Given the description of an element on the screen output the (x, y) to click on. 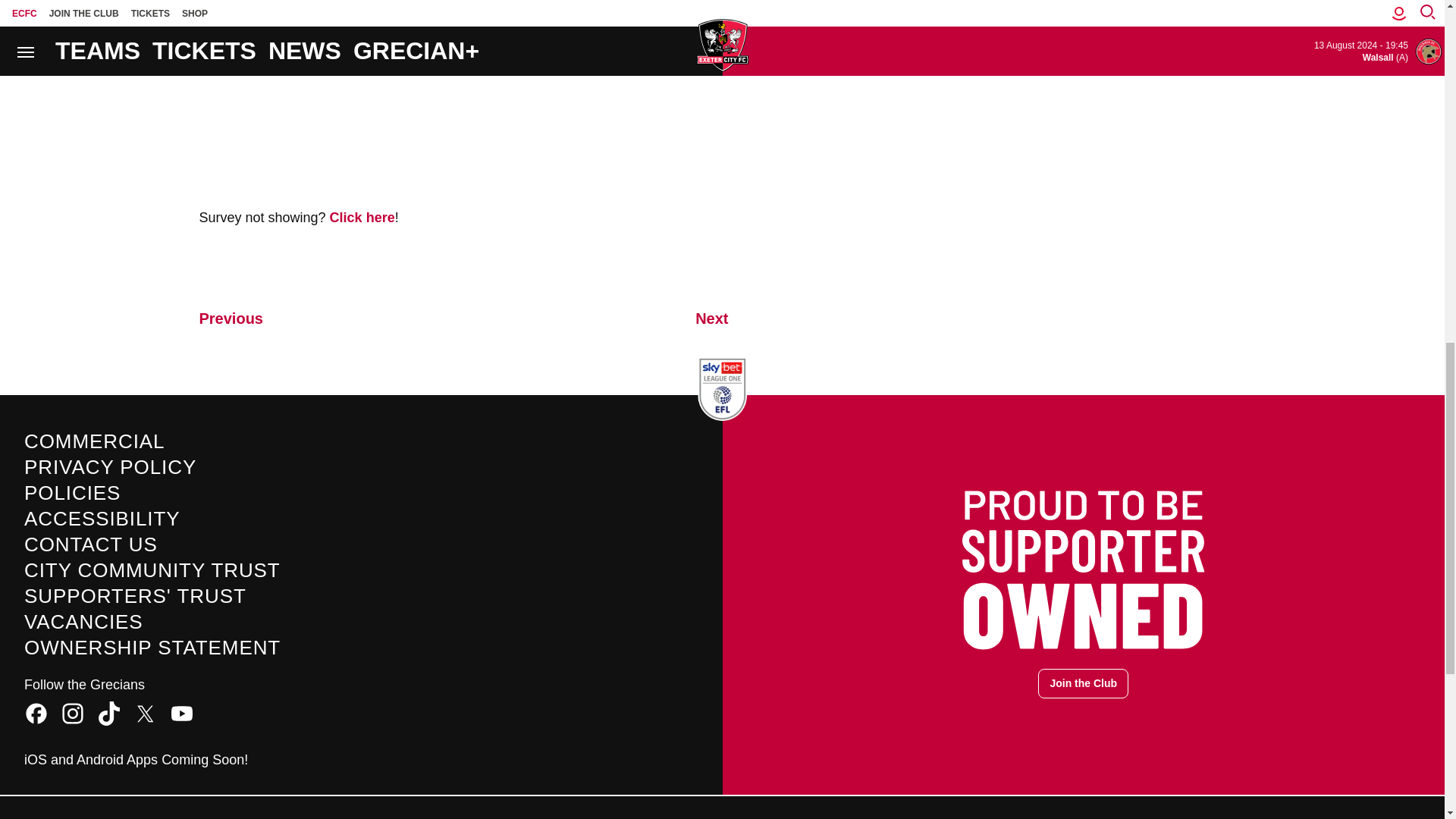
Instagram (72, 713)
Facebook (36, 713)
TikTok icon (108, 713)
X Formally know as Twitter (145, 713)
